Given the description of an element on the screen output the (x, y) to click on. 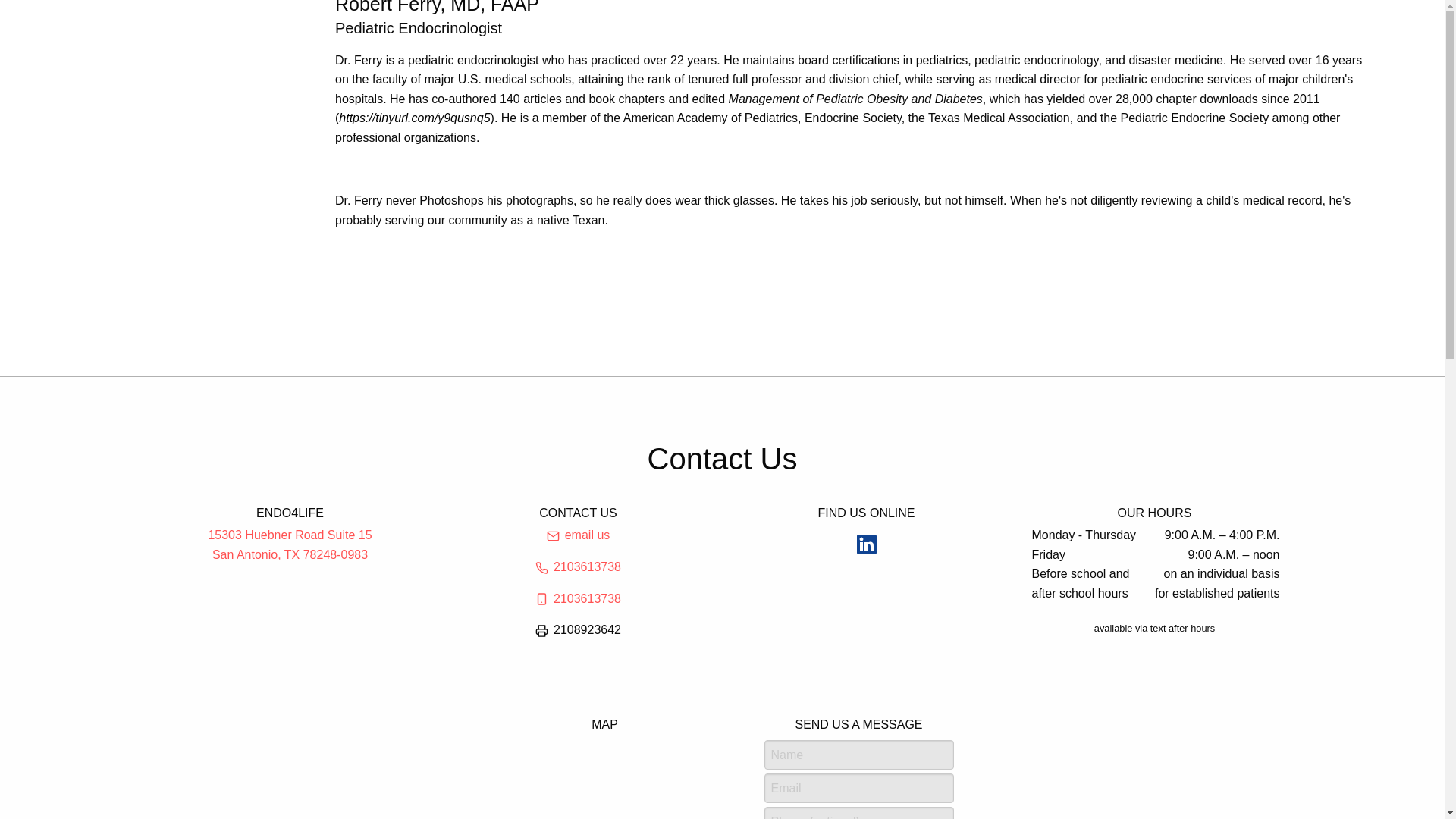
email us (289, 544)
2103613738 (577, 534)
2103613738 (578, 598)
